Given the description of an element on the screen output the (x, y) to click on. 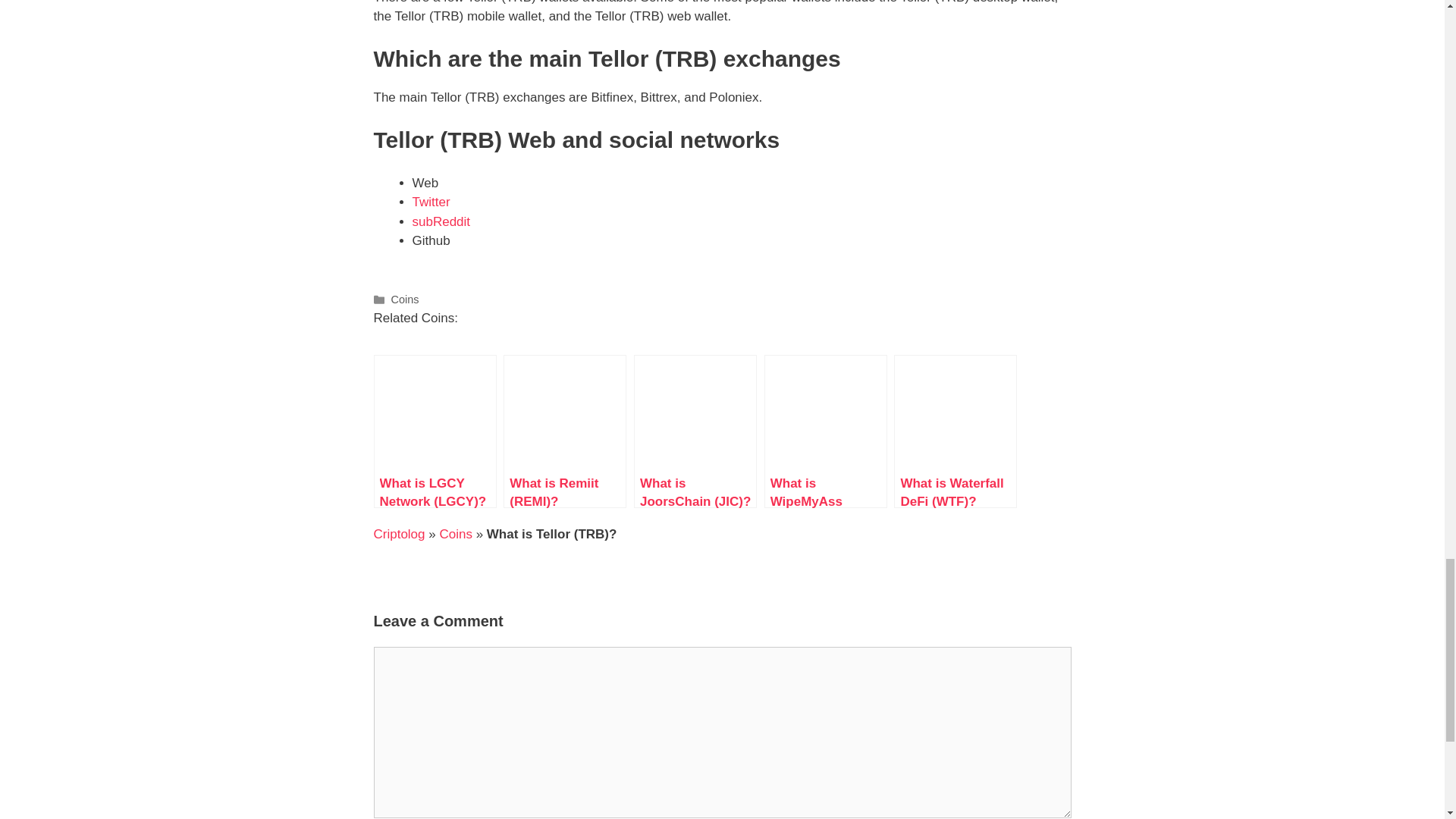
Coins (405, 299)
subReddit (441, 221)
Criptolog (398, 534)
Twitter (430, 201)
Coins (455, 534)
